Given the description of an element on the screen output the (x, y) to click on. 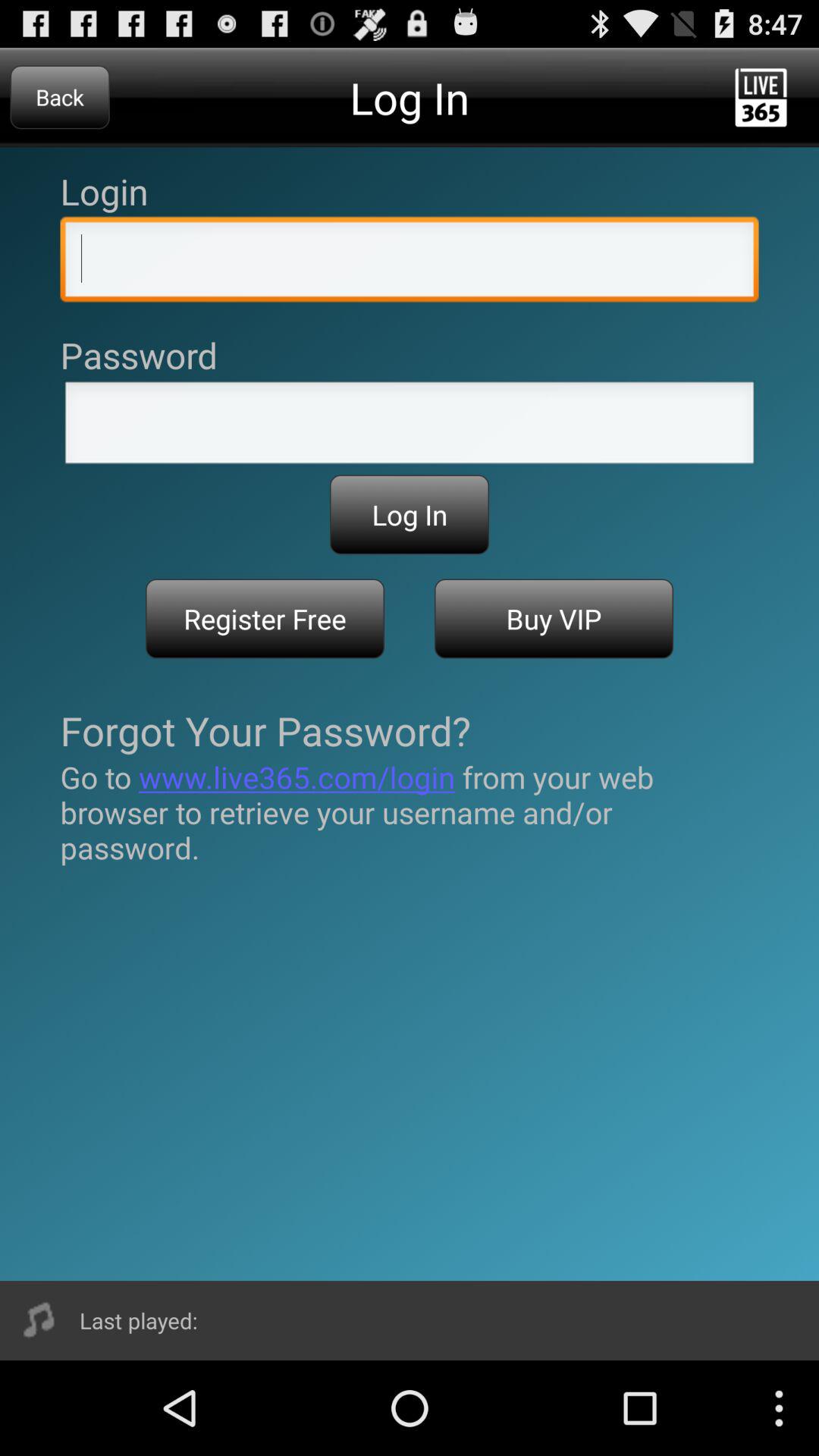
select back item (59, 97)
